Given the description of an element on the screen output the (x, y) to click on. 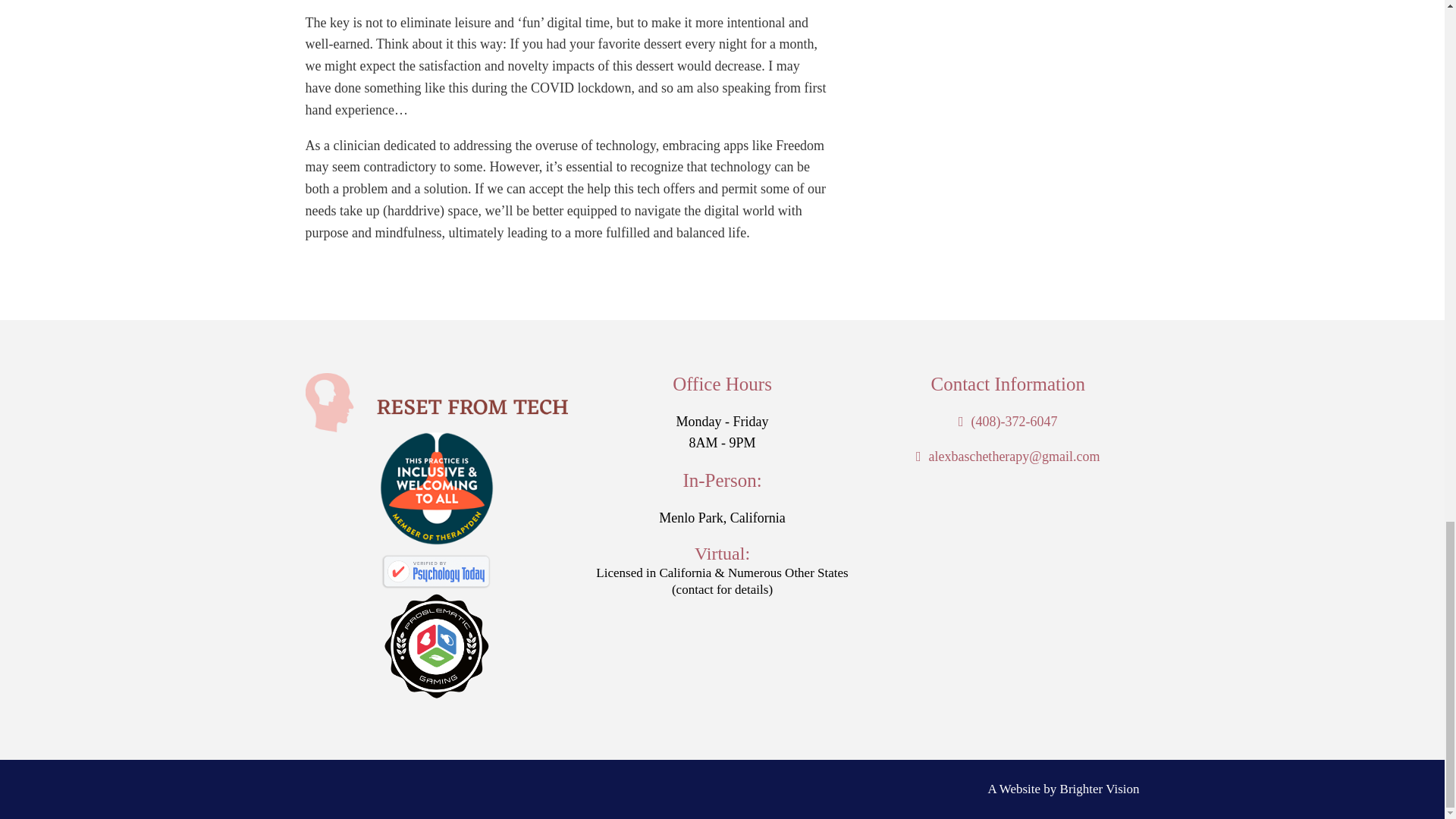
Proud Member of TherapyDen (435, 488)
